Given the description of an element on the screen output the (x, y) to click on. 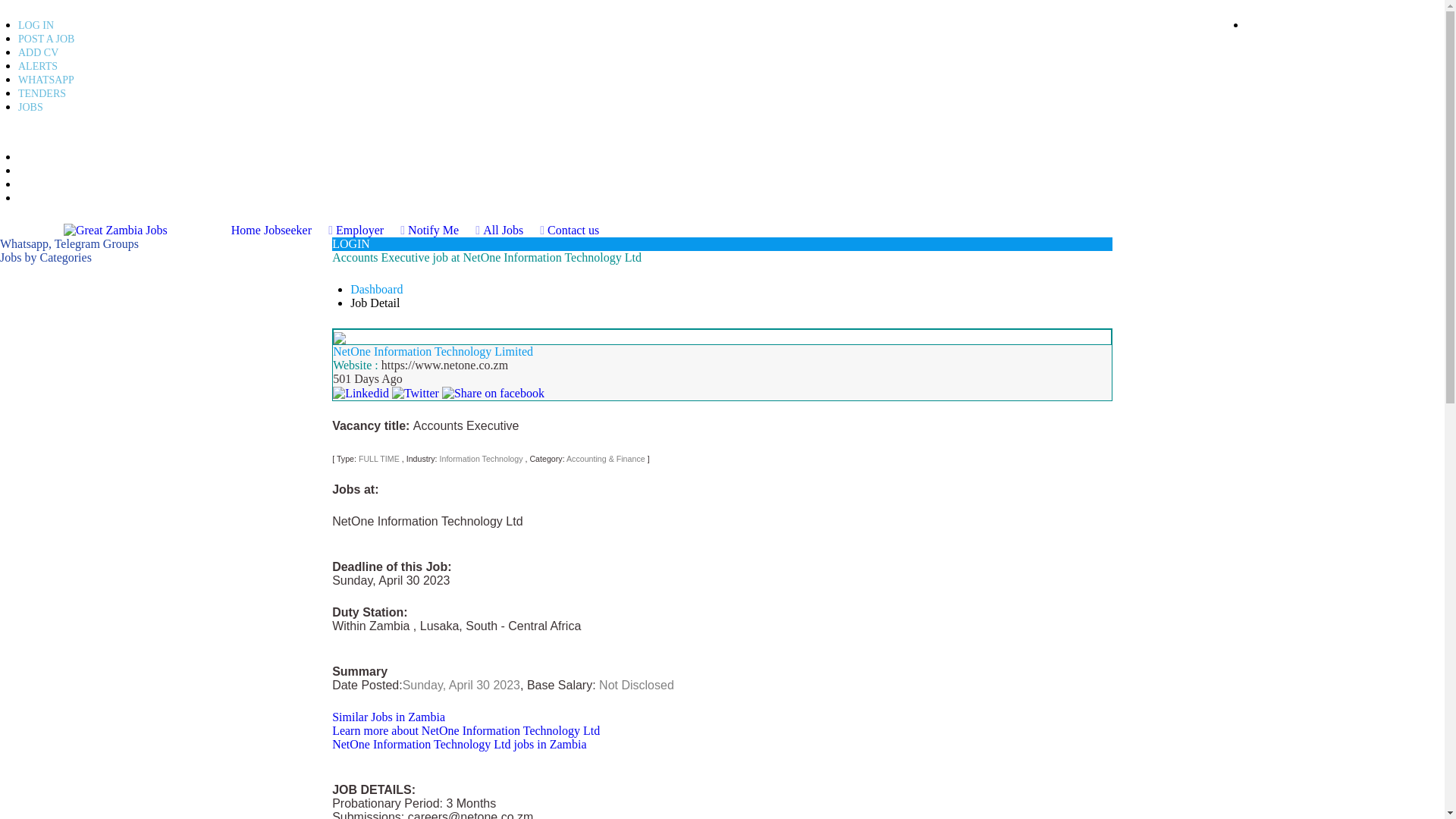
Dashboard (376, 288)
Share to Twitter (415, 391)
POST A JOB (45, 39)
Jobseeker (298, 229)
LOG IN (35, 25)
ALERT (31, 171)
TENDERS (38, 184)
TENDERS (41, 93)
Share to Linkedin (360, 391)
Home (245, 229)
